Given the description of an element on the screen output the (x, y) to click on. 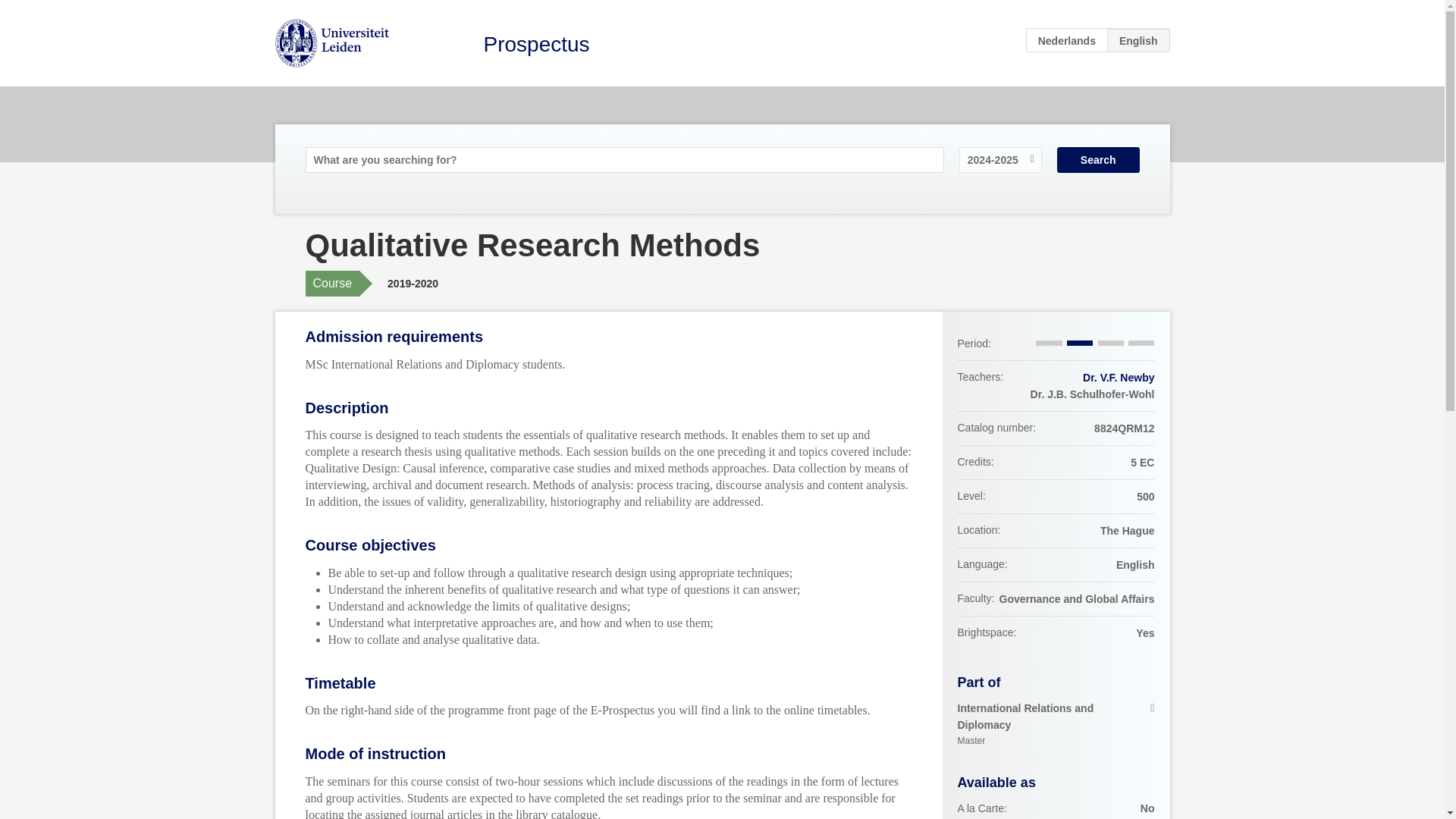
Search (1098, 159)
Dr. V.F. Newby (1118, 377)
Prospectus (1055, 725)
NL (536, 44)
